Given the description of an element on the screen output the (x, y) to click on. 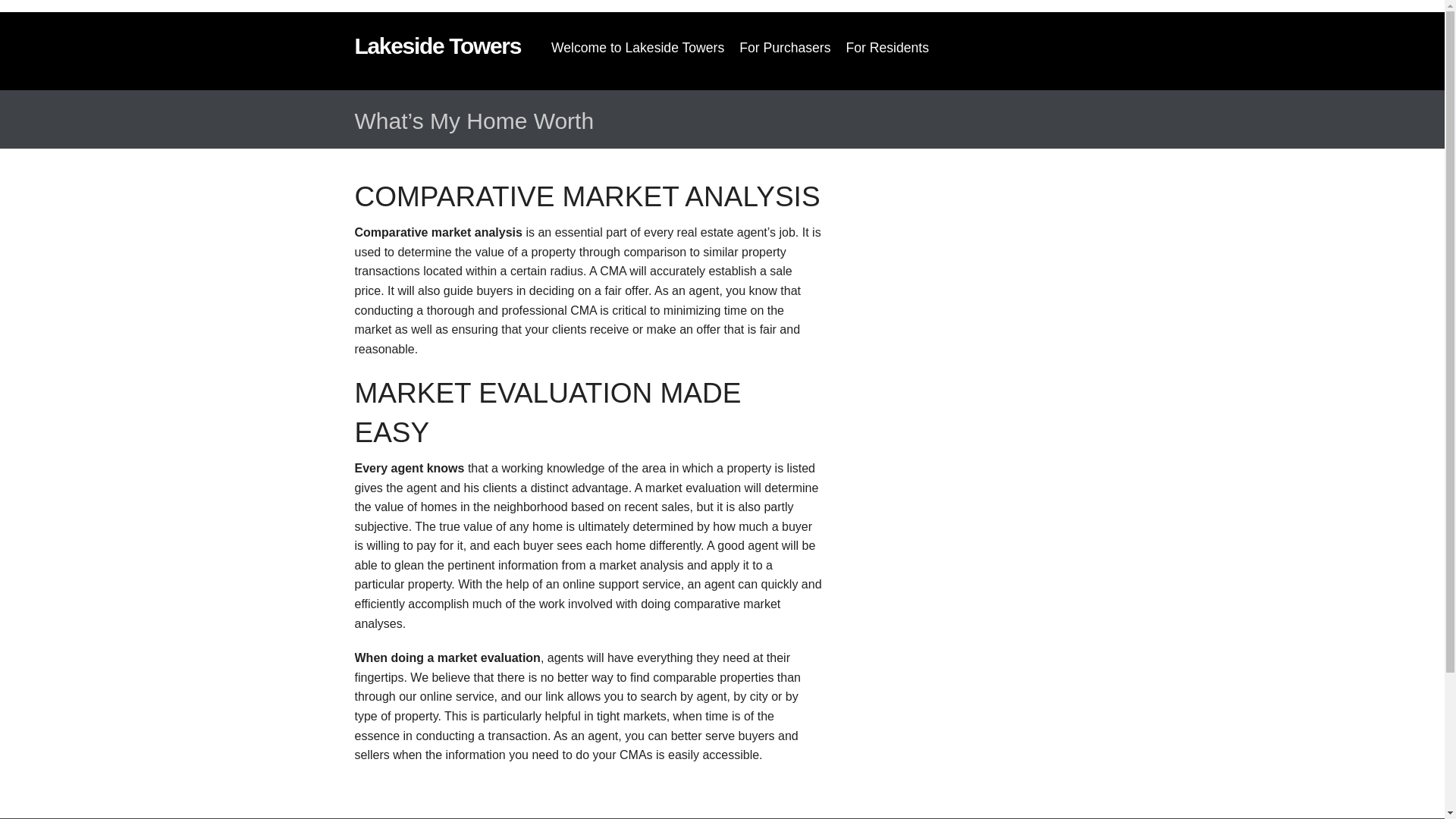
Real Estate (438, 45)
Welcome to Lakeside Towers (637, 47)
Lakeside Towers (438, 45)
For Purchasers (785, 47)
For Residents (887, 47)
